Given the description of an element on the screen output the (x, y) to click on. 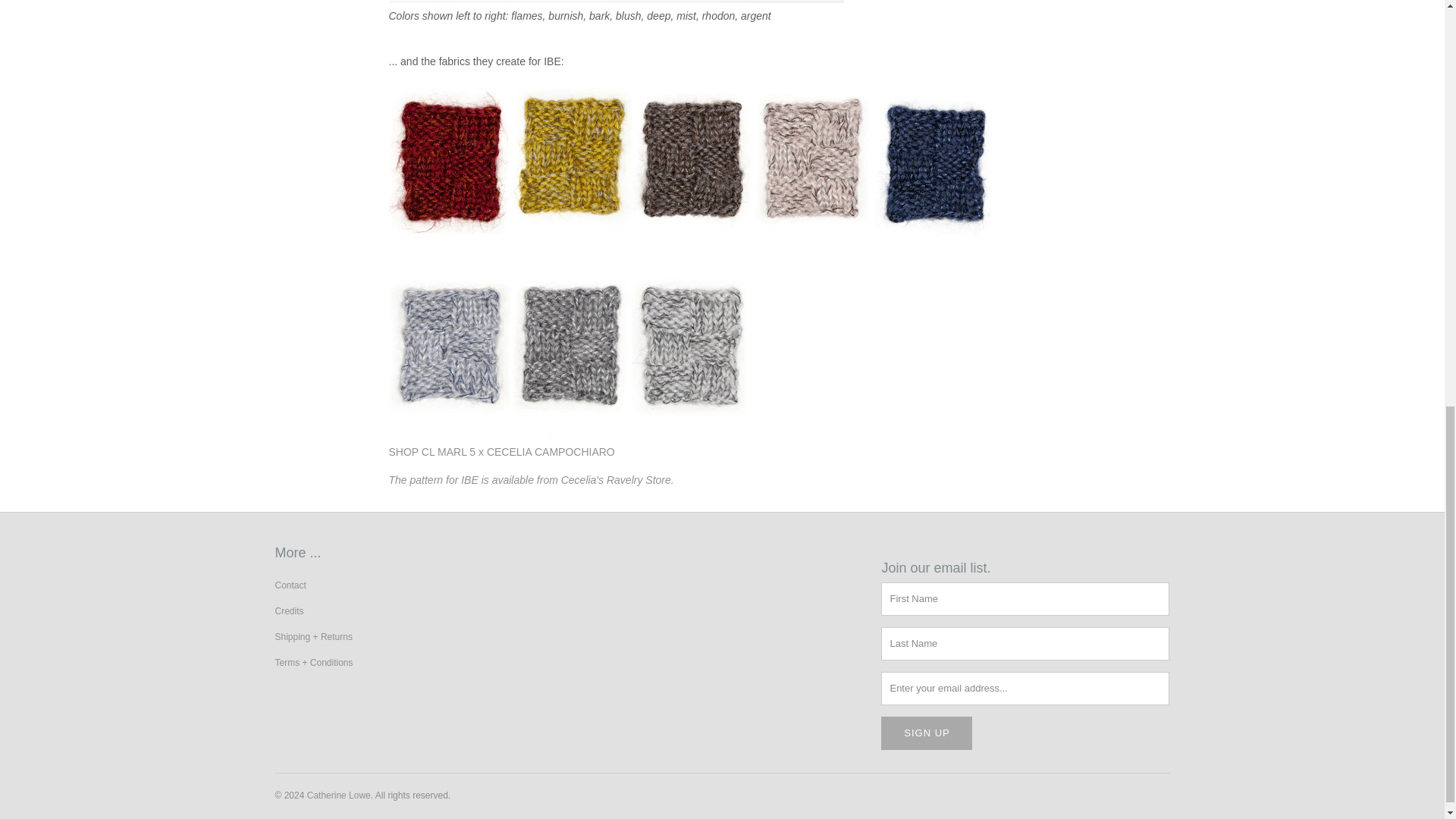
cecelia campochiaro marls (501, 451)
Sign Up (926, 733)
